Given the description of an element on the screen output the (x, y) to click on. 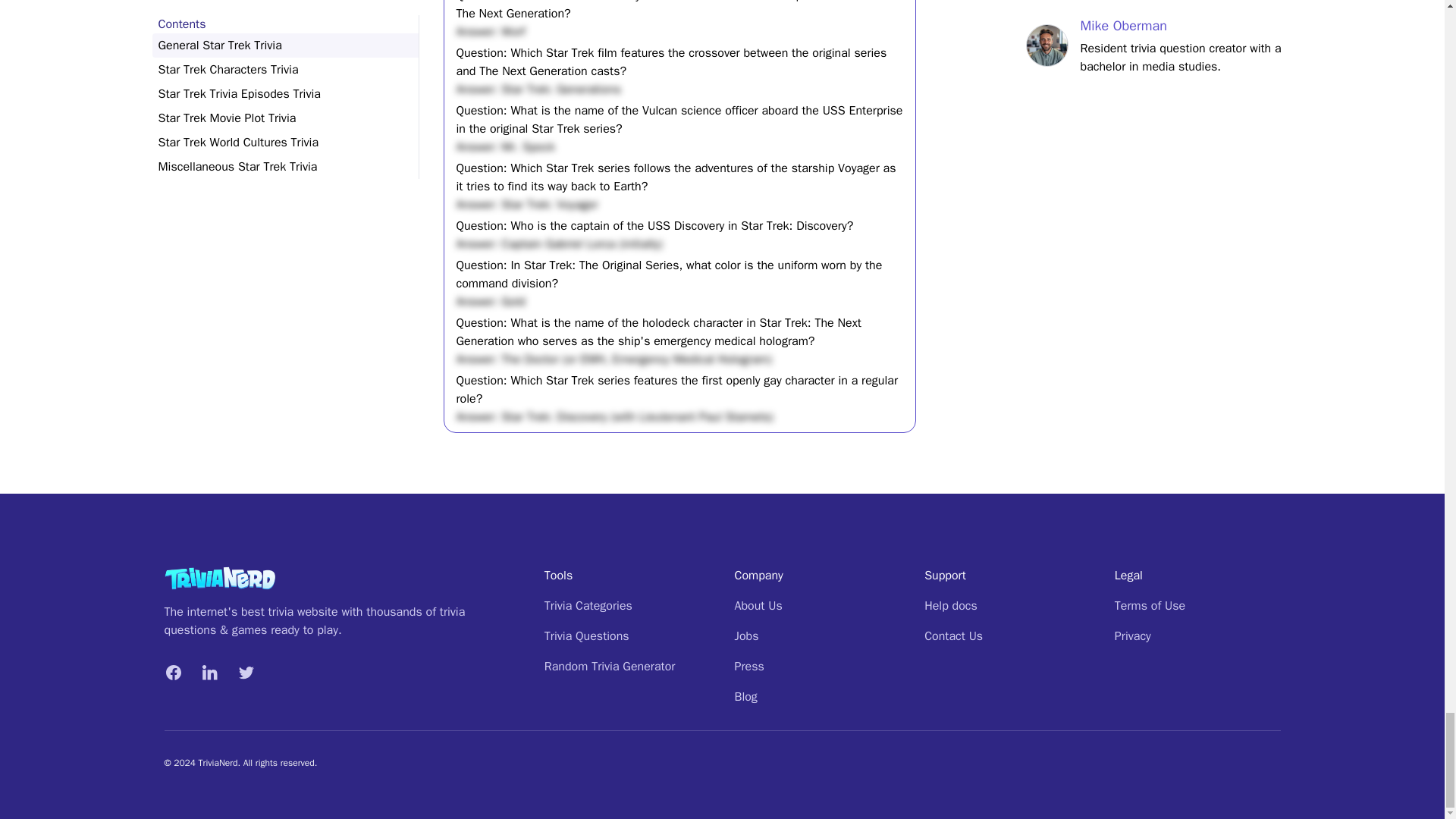
Twitter (244, 672)
LinkedIn (209, 672)
Facebook (172, 672)
